Given the description of an element on the screen output the (x, y) to click on. 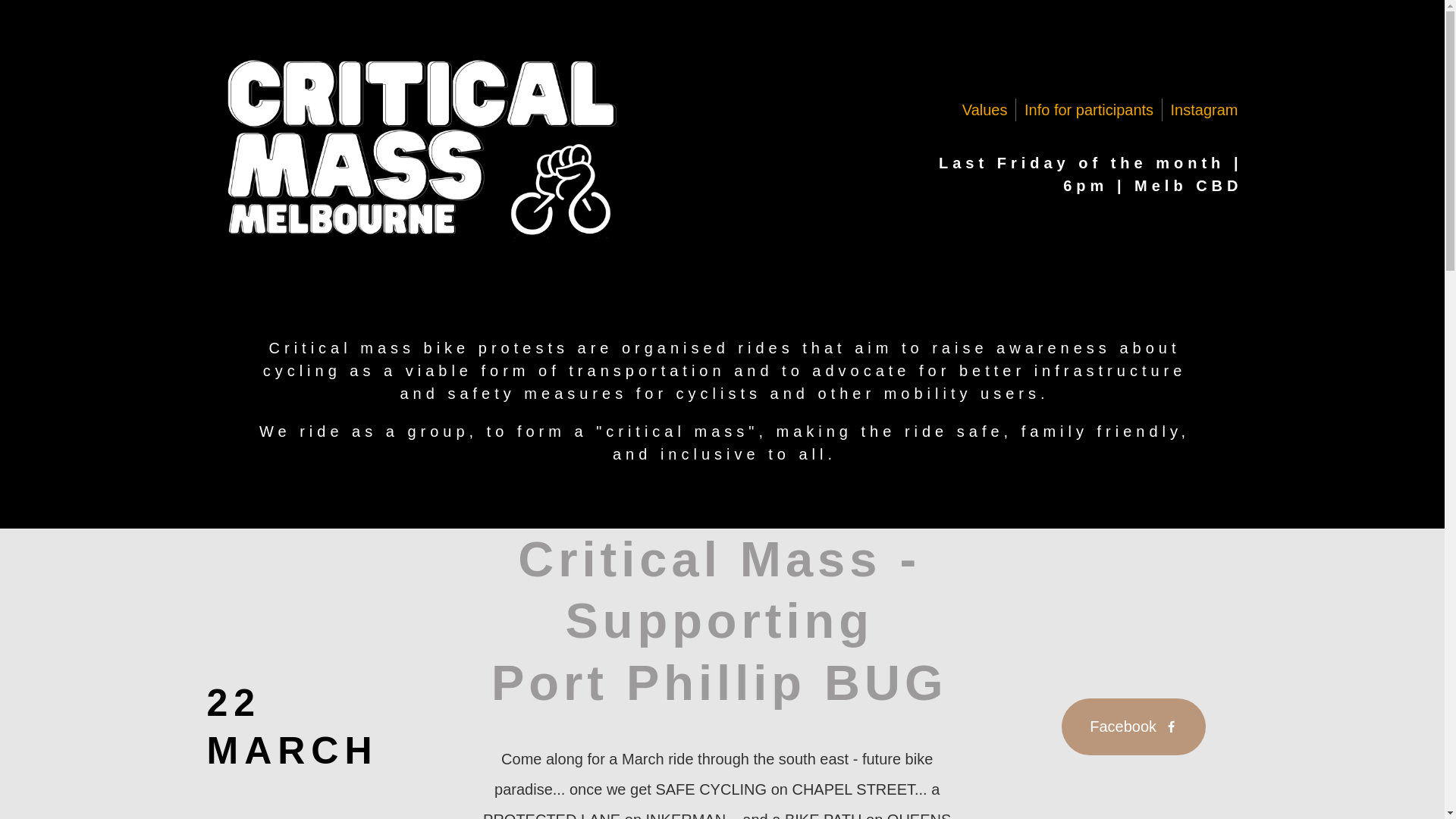
Values (984, 109)
Info for participants (1089, 109)
Instagram (1204, 109)
Facebook (1133, 726)
